Given the description of an element on the screen output the (x, y) to click on. 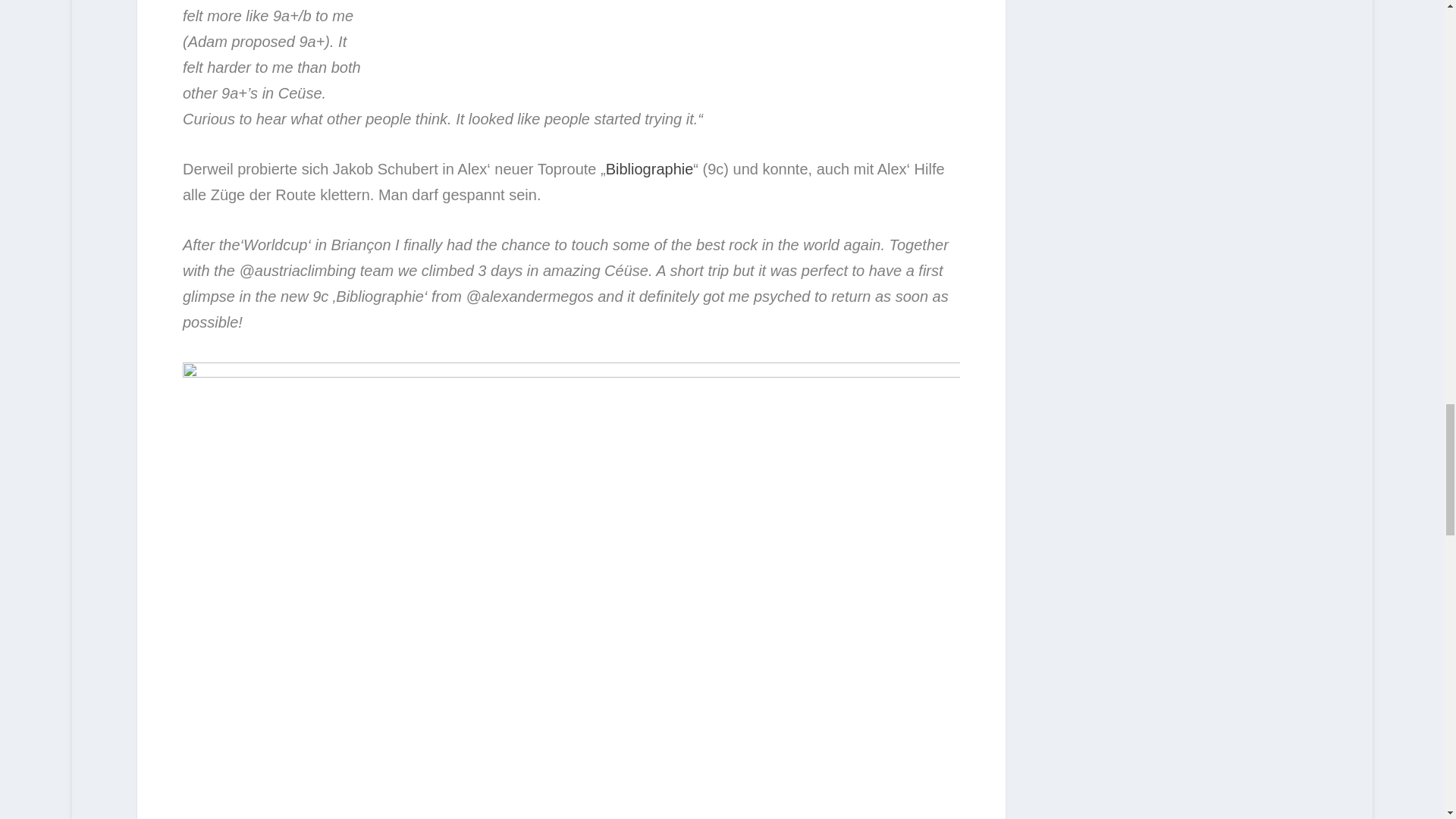
Bibliographie (649, 168)
Bearbeitet (443, 63)
